Given the description of an element on the screen output the (x, y) to click on. 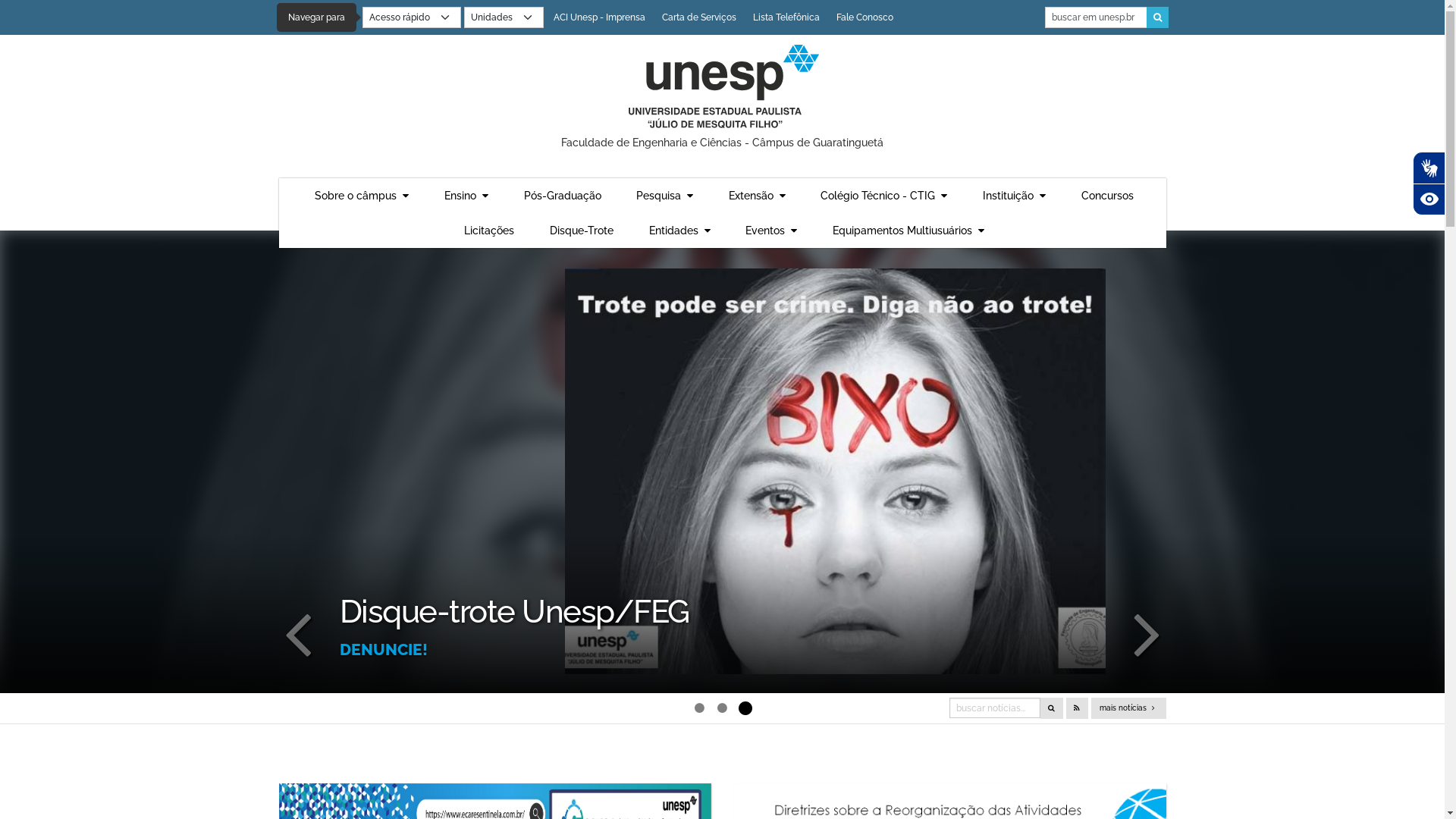
ACI Unesp - Imprensa Element type: text (598, 17)
Concursos Element type: text (1107, 195)
Ir para o item anterior Element type: text (297, 632)
Entidades Element type: text (679, 230)
Fale Conosco Element type: text (864, 17)
Buscar em unesp.br Element type: hover (1095, 17)
Eventos Element type: text (770, 230)
Buscar Element type: text (1157, 17)
Disque-Trote Element type: text (581, 230)
Pesquisa Element type: text (664, 195)
Ensino Element type: text (466, 195)
Feed de RSS Element type: text (1077, 707)
